Given the description of an element on the screen output the (x, y) to click on. 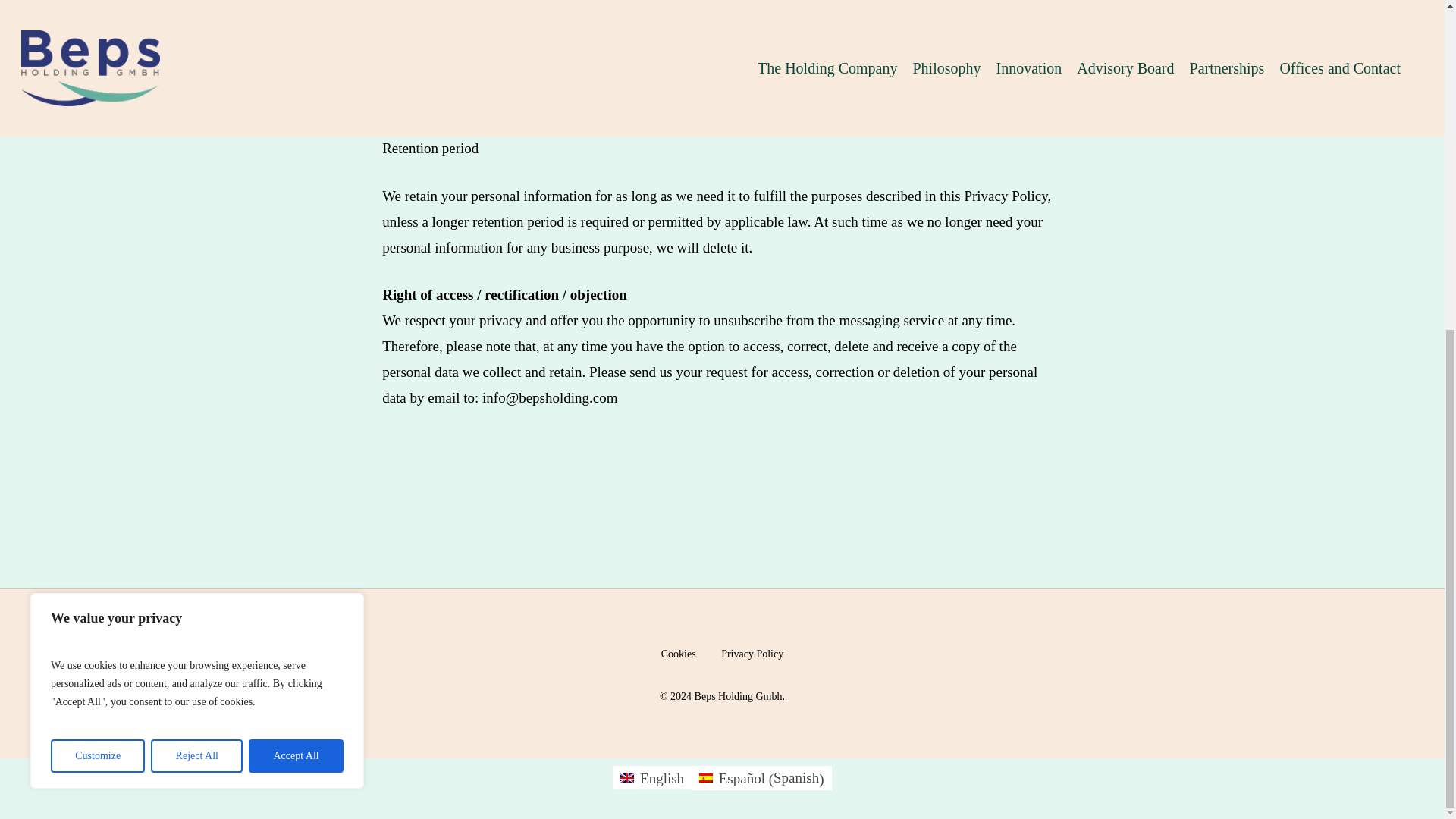
Cookies (678, 655)
Reject All (197, 210)
English (651, 777)
Customize (97, 210)
Privacy Policy (751, 655)
Accept All (295, 210)
